Given the description of an element on the screen output the (x, y) to click on. 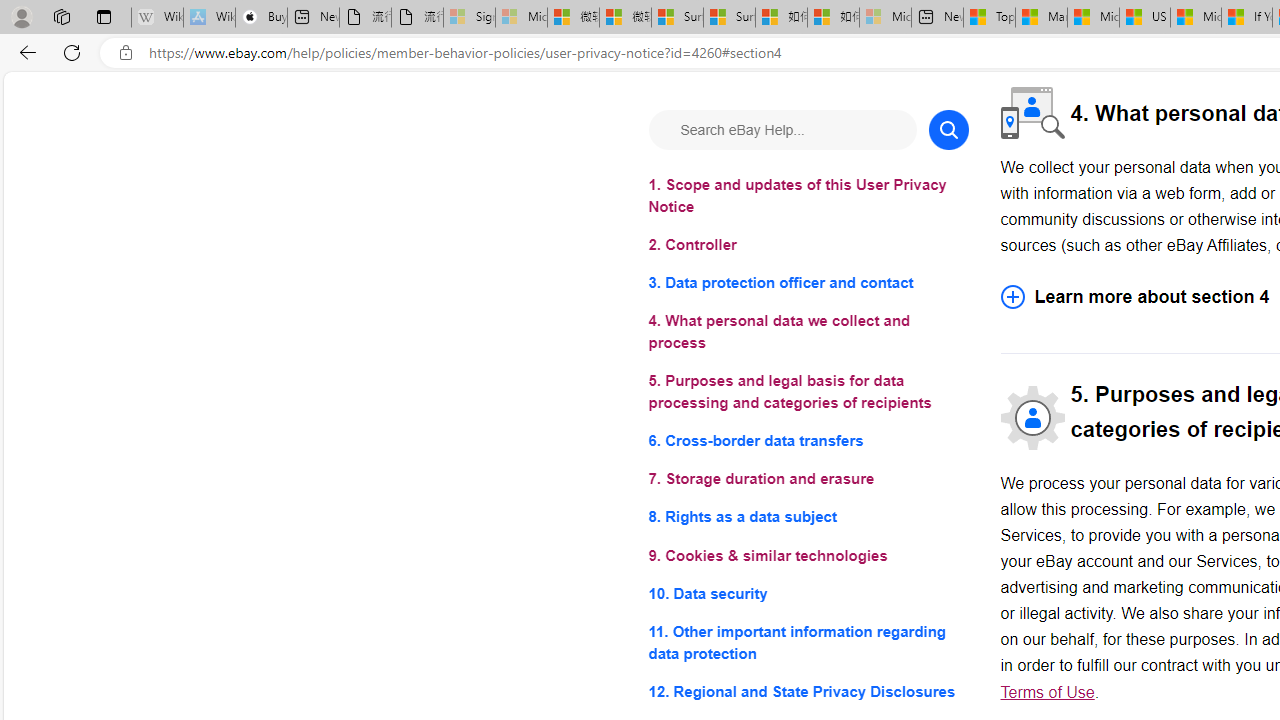
6. Cross-border data transfers (807, 440)
9. Cookies & similar technologies (807, 555)
Microsoft Services Agreement - Sleeping (520, 17)
7. Storage duration and erasure (807, 479)
2. Controller (807, 245)
1. Scope and updates of this User Privacy Notice (807, 196)
11. Other important information regarding data protection (807, 642)
